Given the description of an element on the screen output the (x, y) to click on. 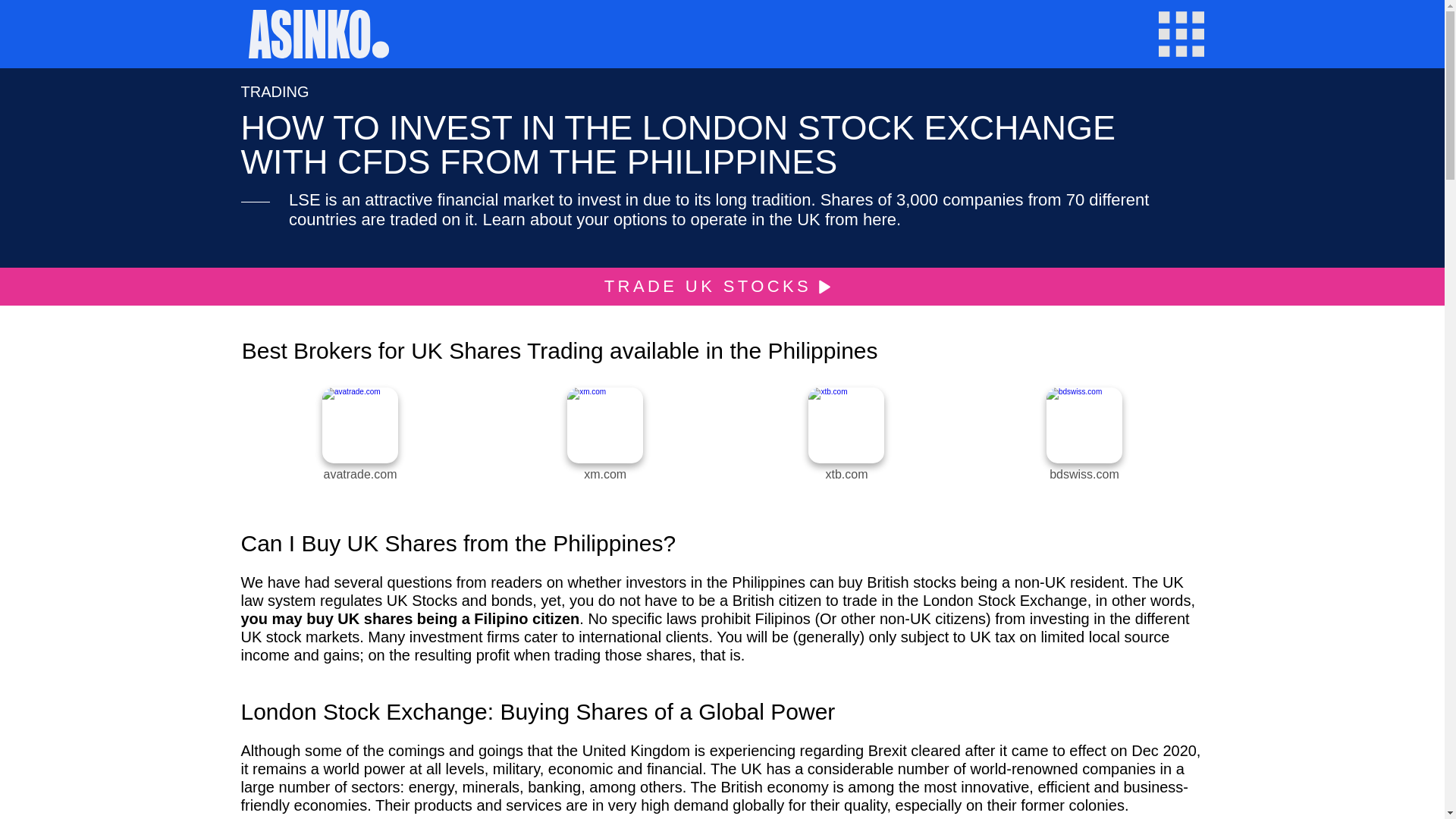
xm.com (604, 474)
bdswiss.com (1083, 474)
avatrade.com (359, 474)
xtb.com (846, 474)
